Given the description of an element on the screen output the (x, y) to click on. 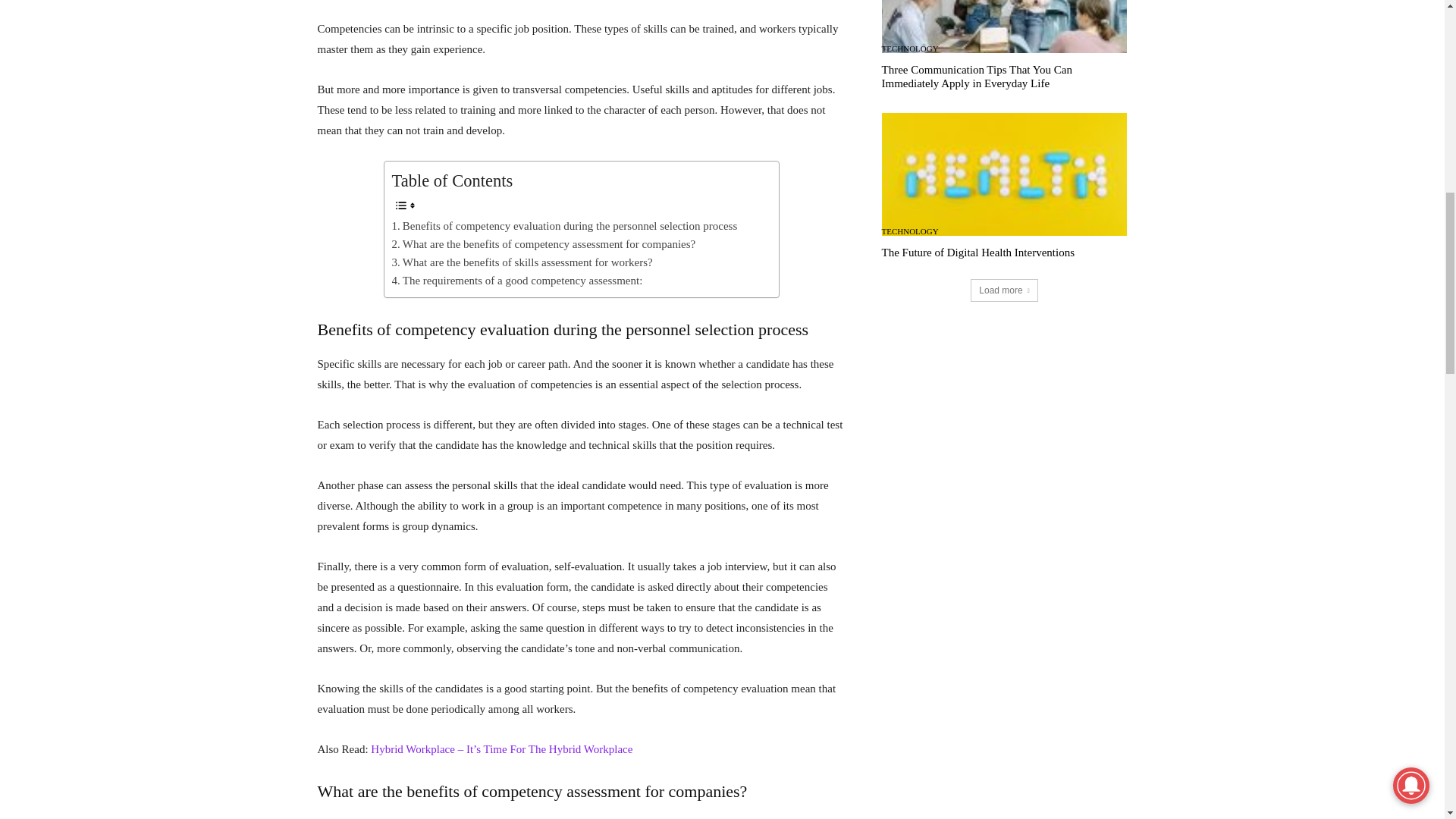
The requirements of a good competency assessment: (516, 280)
What are the benefits of skills assessment for workers? (521, 262)
